Given the description of an element on the screen output the (x, y) to click on. 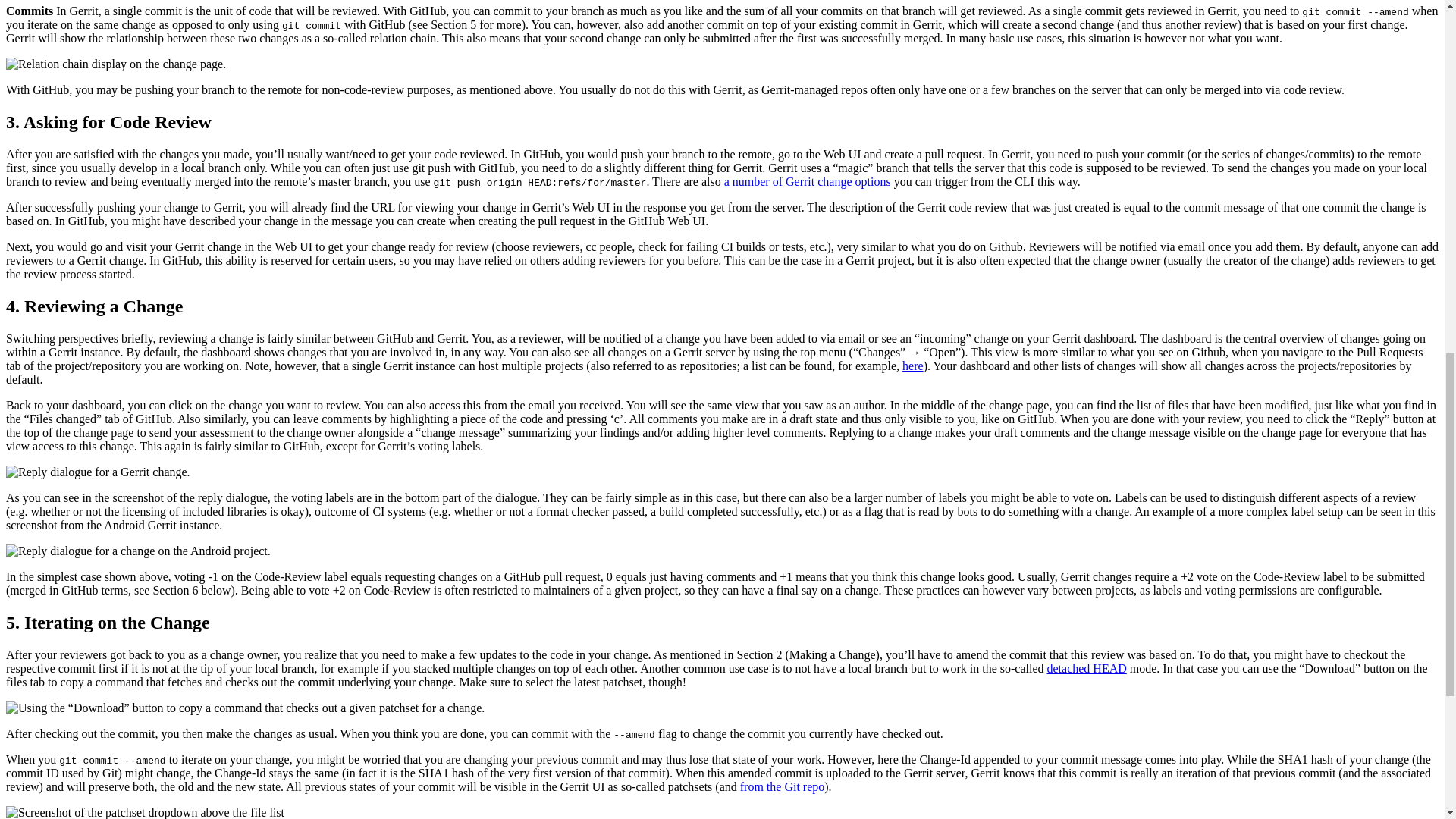
a number of Gerrit change options (807, 181)
detached HEAD (1085, 667)
from the Git repo (782, 786)
here (912, 365)
